Given the description of an element on the screen output the (x, y) to click on. 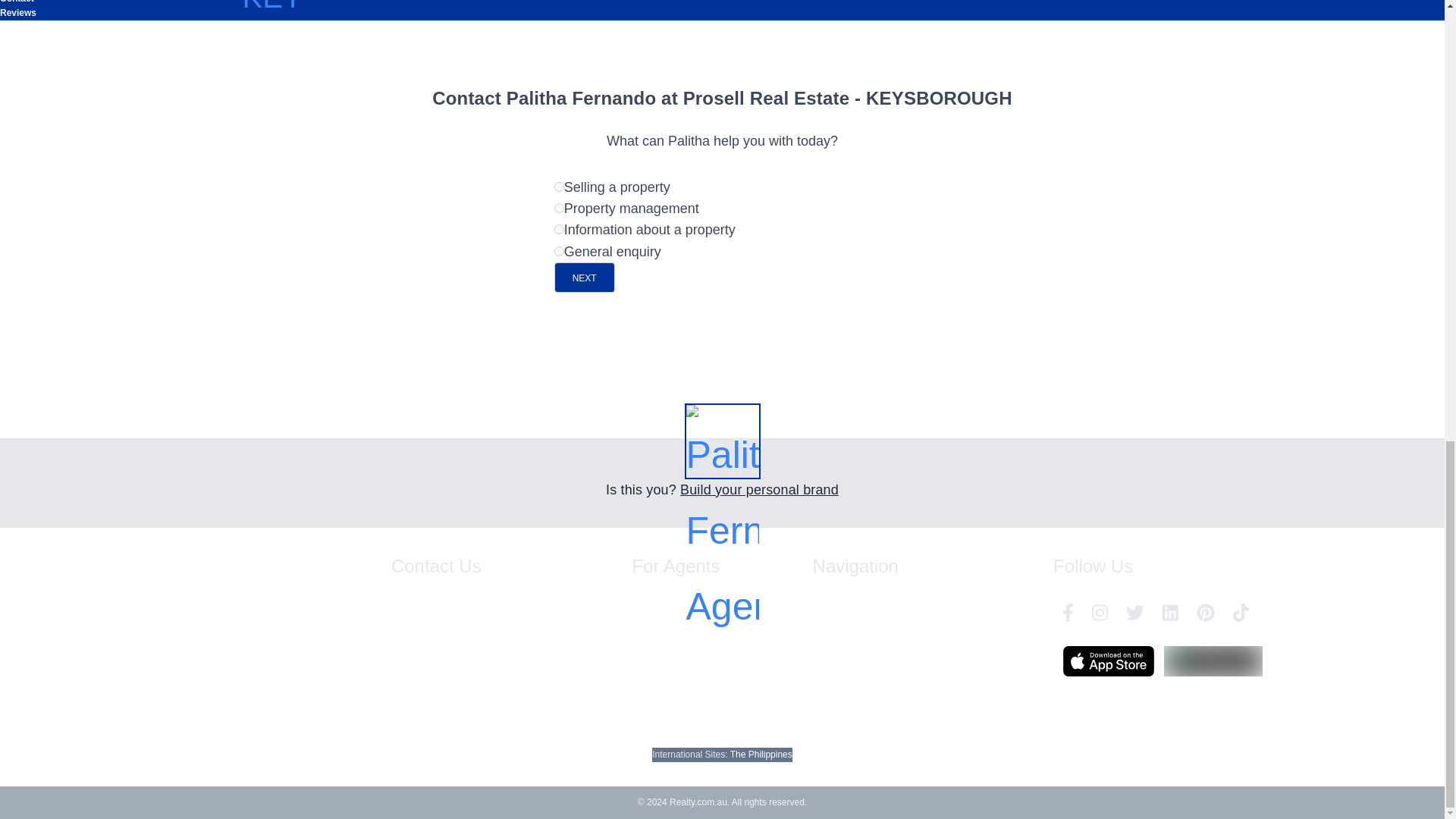
Realty Facebook (1067, 612)
Realty Twitter (1134, 612)
Realty LinkedIn (1170, 612)
How To Videos (662, 710)
Terms of Service (846, 644)
Explore Suburbs (846, 617)
About Us (911, 658)
Realty Pinterest (1206, 612)
Realestate Philippines (761, 754)
